Given the description of an element on the screen output the (x, y) to click on. 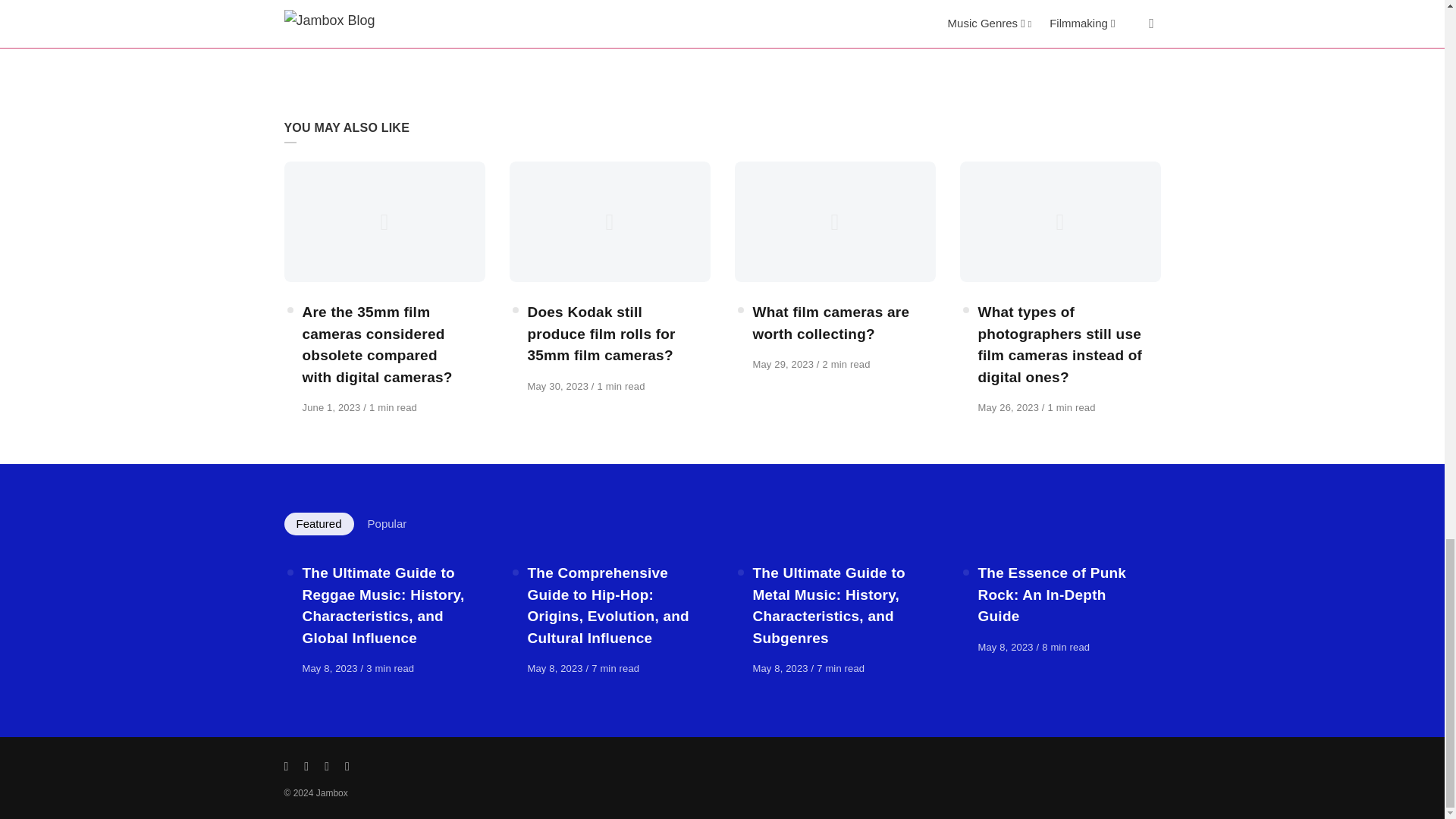
June 1, 2023 (331, 407)
3762 who is the best singer of pop music (513, 5)
May 8, 2023 (556, 668)
Who is the best singer of pop music? (590, 6)
May 30, 2023 (559, 386)
May 8, 2023 (330, 668)
8351 what film cameras are worth collecting (829, 218)
May 8, 2023 (781, 668)
May 8, 2023 (1007, 646)
